Given the description of an element on the screen output the (x, y) to click on. 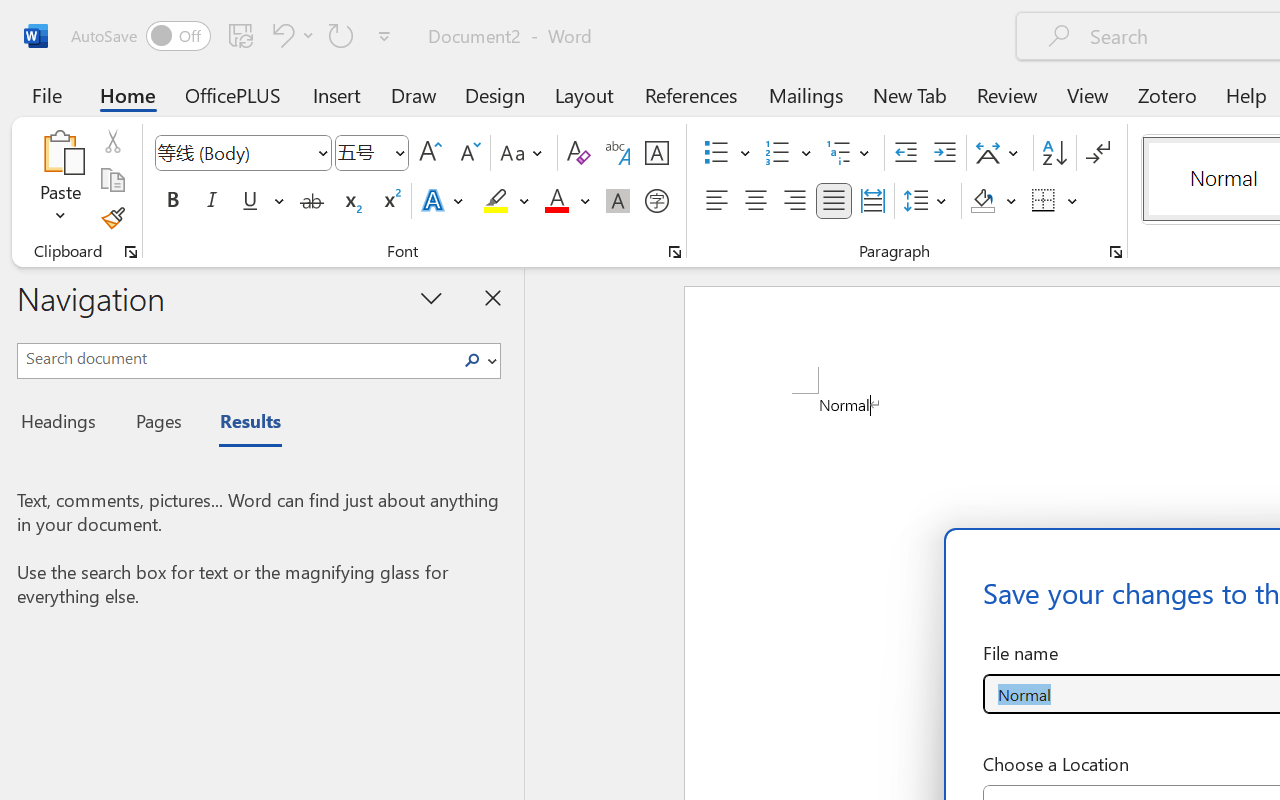
Line and Paragraph Spacing (927, 201)
Repeat Doc Close (341, 35)
Text Effects and Typography (444, 201)
Pages (156, 424)
Font Size (372, 153)
Grow Font (430, 153)
Review (1007, 94)
Paste (60, 179)
Multilevel List (850, 153)
OfficePLUS (233, 94)
Copy (112, 179)
AutoSave (140, 35)
Search document (236, 358)
Font... (675, 252)
